Given the description of an element on the screen output the (x, y) to click on. 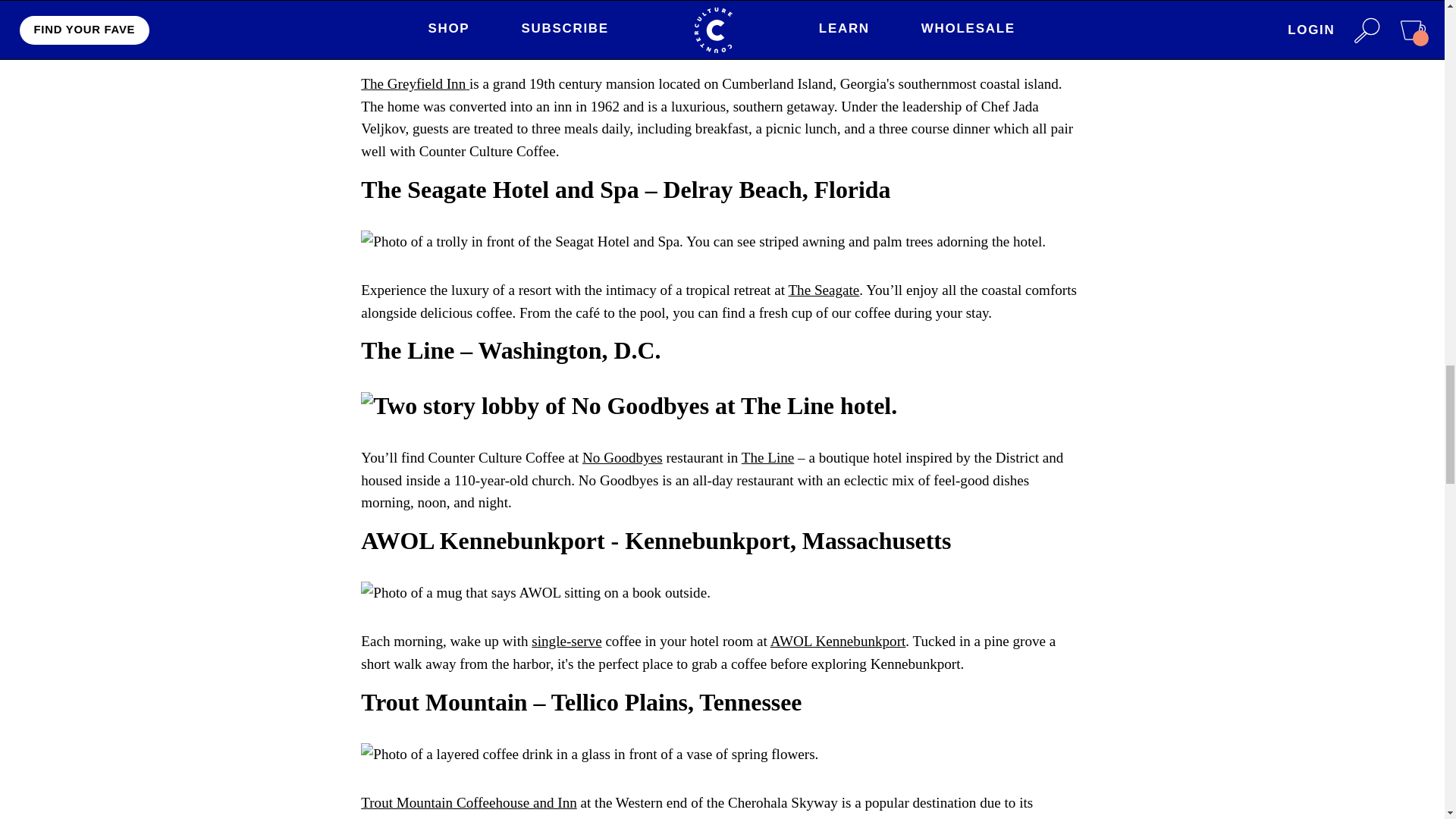
AWOL Kennebunkport website (837, 641)
The Greyfield Inn (414, 83)
Single-Serve coffee (566, 641)
